Given the description of an element on the screen output the (x, y) to click on. 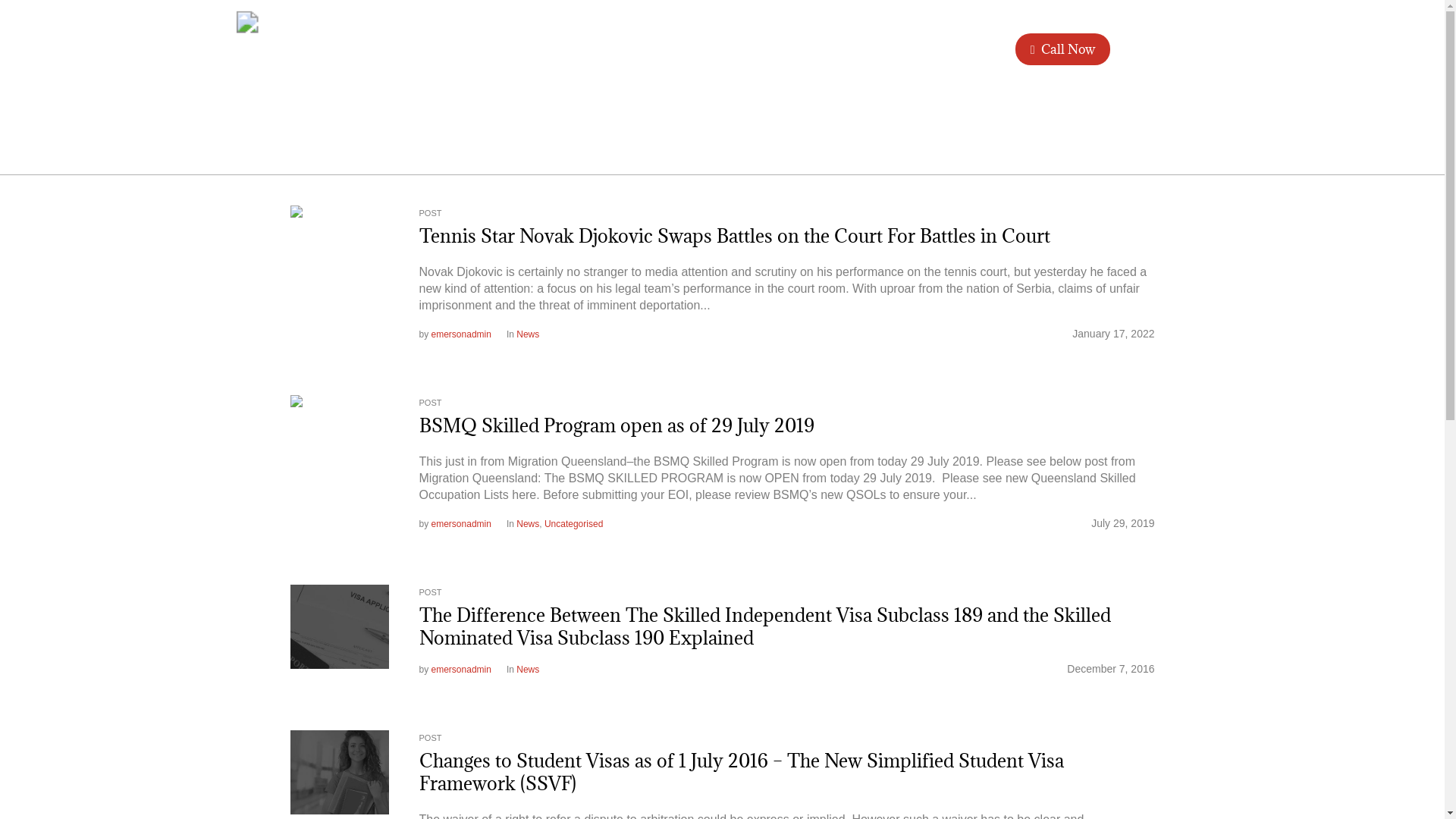
News Element type: text (527, 523)
Home Element type: text (610, 49)
News Element type: text (527, 669)
emersonadmin Element type: text (461, 669)
Services Element type: text (795, 49)
Call Now Element type: text (1062, 49)
News Element type: text (527, 334)
Fees Element type: text (855, 49)
BSMQ Skilled Program open as of 29 July 2019 Element type: text (615, 425)
People Element type: text (730, 49)
emersonadmin Element type: text (461, 523)
About Element type: text (669, 49)
BSMQ Skilled Program open as of 29 July 2019 Element type: hover (338, 444)
Contact Element type: text (968, 49)
News Element type: text (906, 49)
emersonadmin Element type: text (461, 334)
BSMQ Skilled Program open as of 29 July 2019 Element type: hover (338, 443)
Uncategorised Element type: text (573, 523)
